Given the description of an element on the screen output the (x, y) to click on. 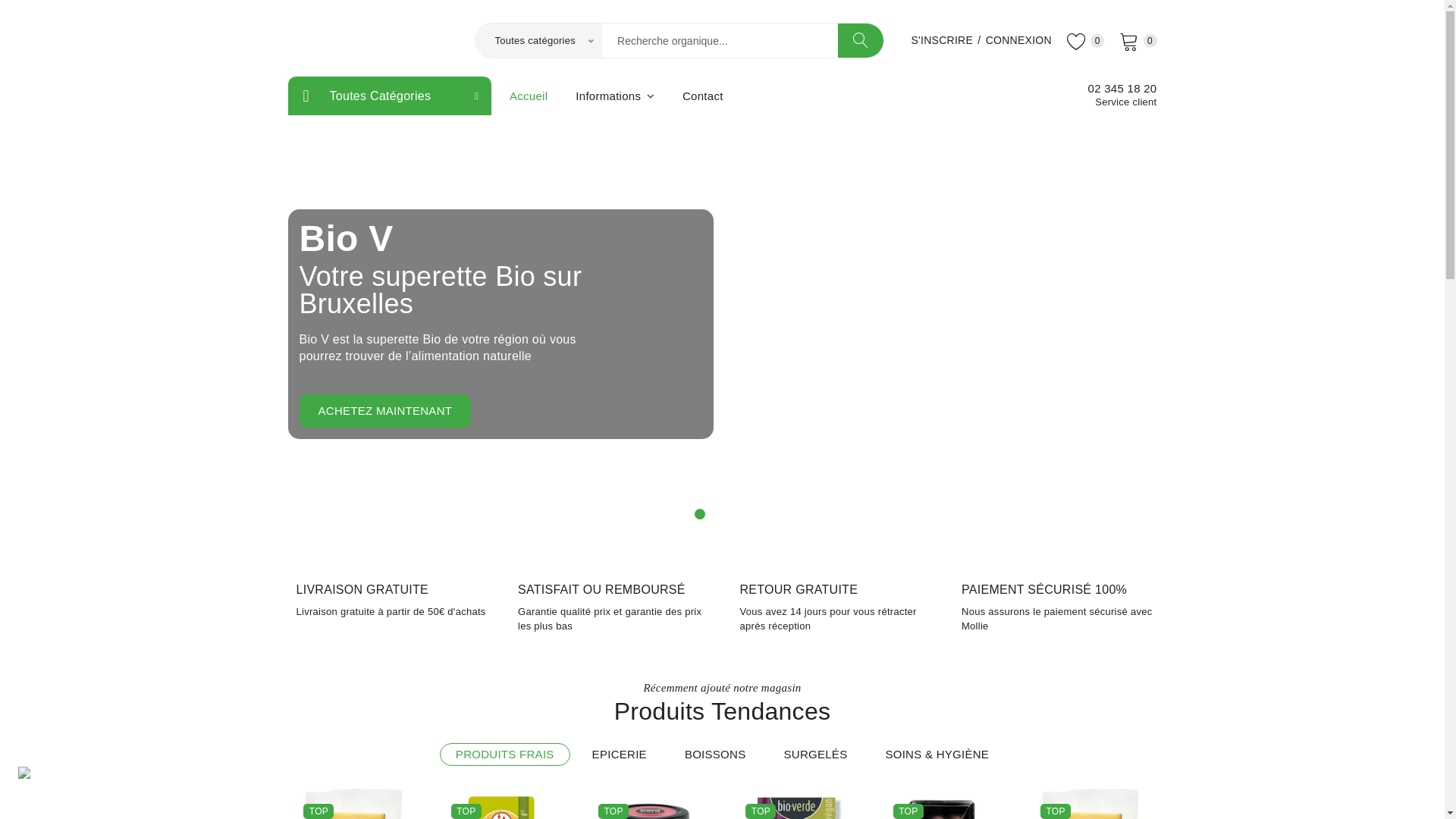
S'INSCRIRE Element type: text (941, 39)
ACHETEZ MAINTENANT Element type: text (384, 410)
EPICERIE Element type: text (619, 754)
0 Element type: text (1137, 40)
Contact Element type: text (702, 96)
02 345 18 20 Element type: text (1122, 88)
CONNEXION Element type: text (1018, 39)
Informations Element type: text (614, 96)
0 Element type: text (1085, 40)
Accueil Element type: text (528, 96)
PRODUITS FRAIS Element type: text (504, 754)
BOISSONS Element type: text (715, 754)
